Given the description of an element on the screen output the (x, y) to click on. 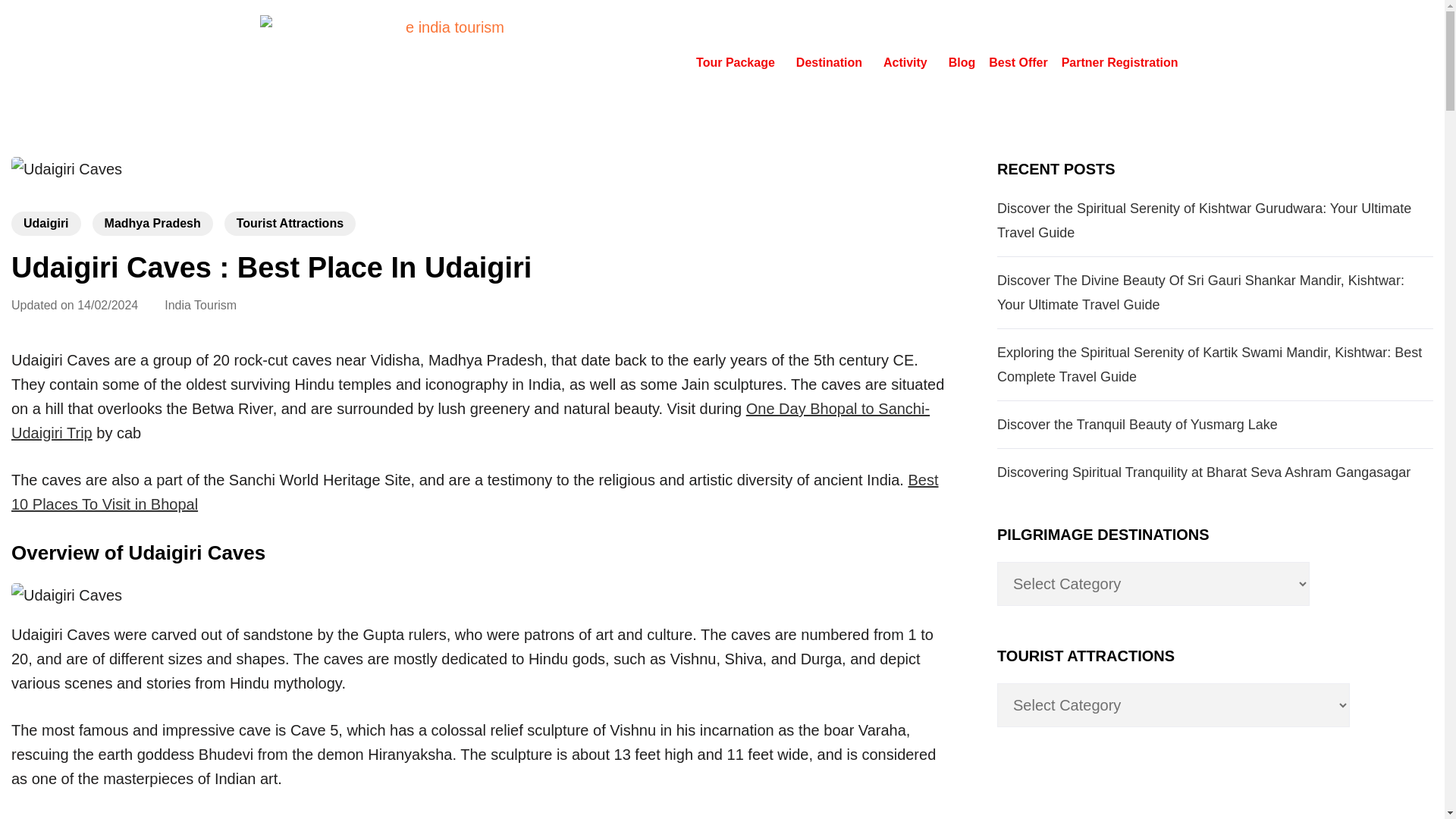
Activity (909, 62)
Udaigiri Caves : Best Place In Udaigiri 1 (66, 168)
Udaigiri Caves : Best Place In Udaigiri 2 (66, 595)
Destination (832, 62)
Tour Package (738, 62)
